Given the description of an element on the screen output the (x, y) to click on. 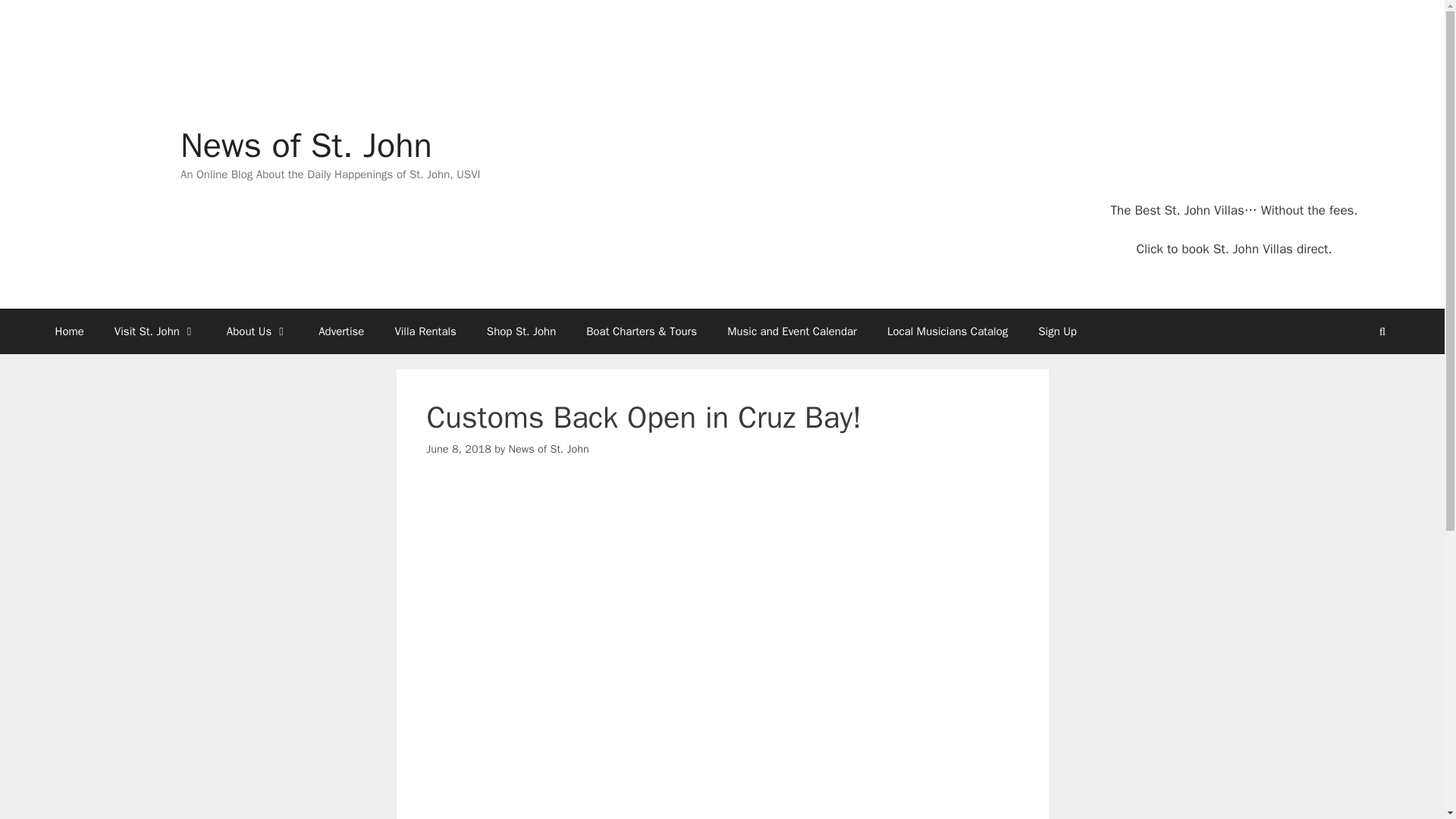
Visit St. John (155, 330)
June 8, 2018 (458, 448)
Advertise (340, 330)
Search (1382, 330)
News of St. John (548, 448)
Home (69, 330)
10:06 am (458, 448)
News of St. John (306, 145)
Click to book St. John Villas direct. (1233, 248)
About Us (256, 330)
